Given the description of an element on the screen output the (x, y) to click on. 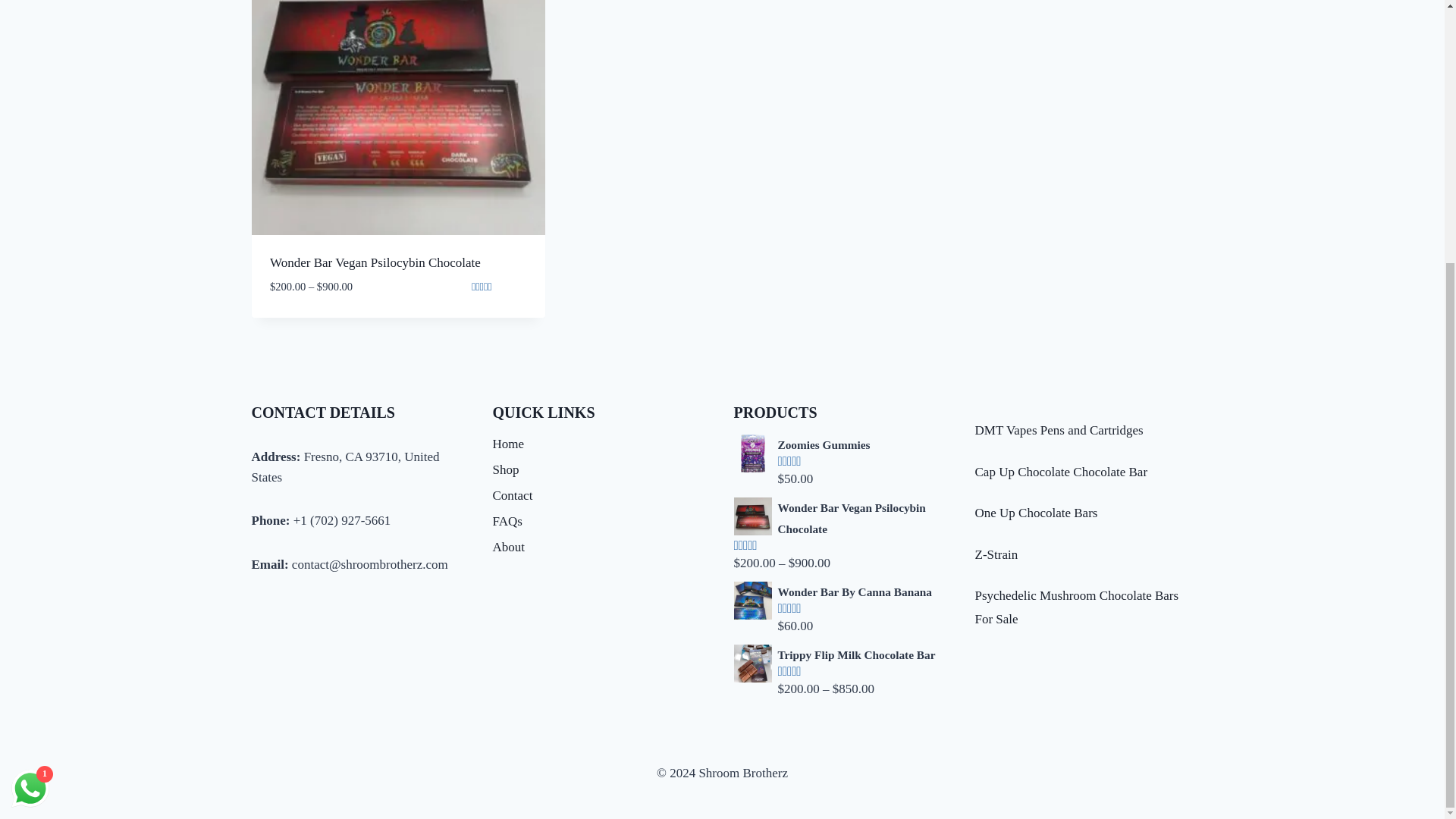
Trippy Flip Milk Chocolate Bar (842, 654)
One Up Chocolate Bars (1036, 513)
FAQs (602, 521)
Shop (602, 470)
DMT Vapes Pens and Cartridges (1058, 430)
Zoomies Gummies (842, 444)
Psychedelic Mushroom Chocolate Bars For Sale (1077, 607)
Wonder Bar Vegan Psilocybin Chocolate (374, 262)
Cap Up Chocolate Chocolate Bar (1061, 472)
Wonder Bar Vegan Psilocybin Chocolate (842, 517)
